Given the description of an element on the screen output the (x, y) to click on. 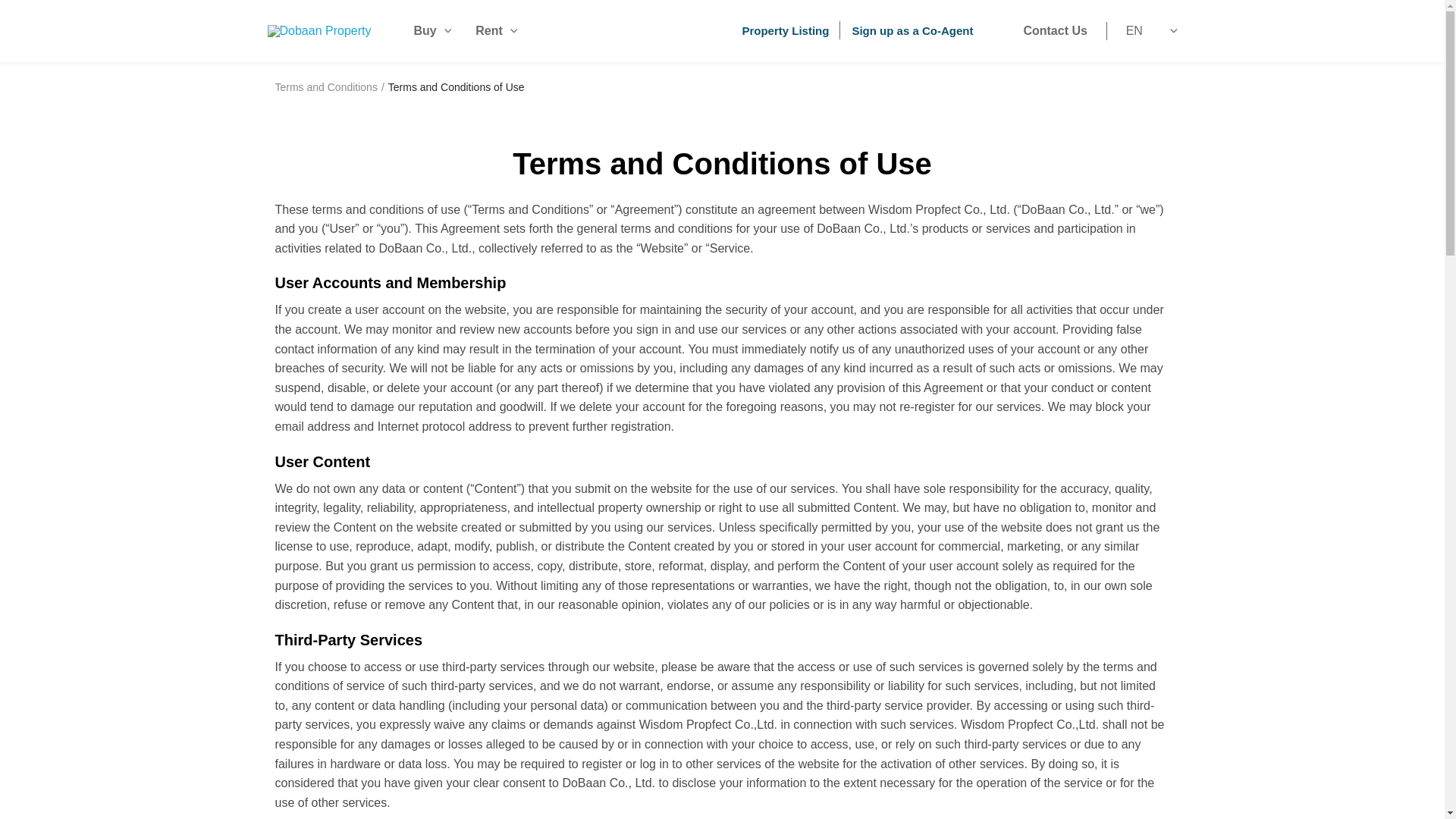
Property Listing (784, 30)
Contact Us (1054, 31)
EN (1146, 31)
Sign up as a Co-Agent (911, 30)
Buy (432, 31)
Rent (496, 31)
